Given the description of an element on the screen output the (x, y) to click on. 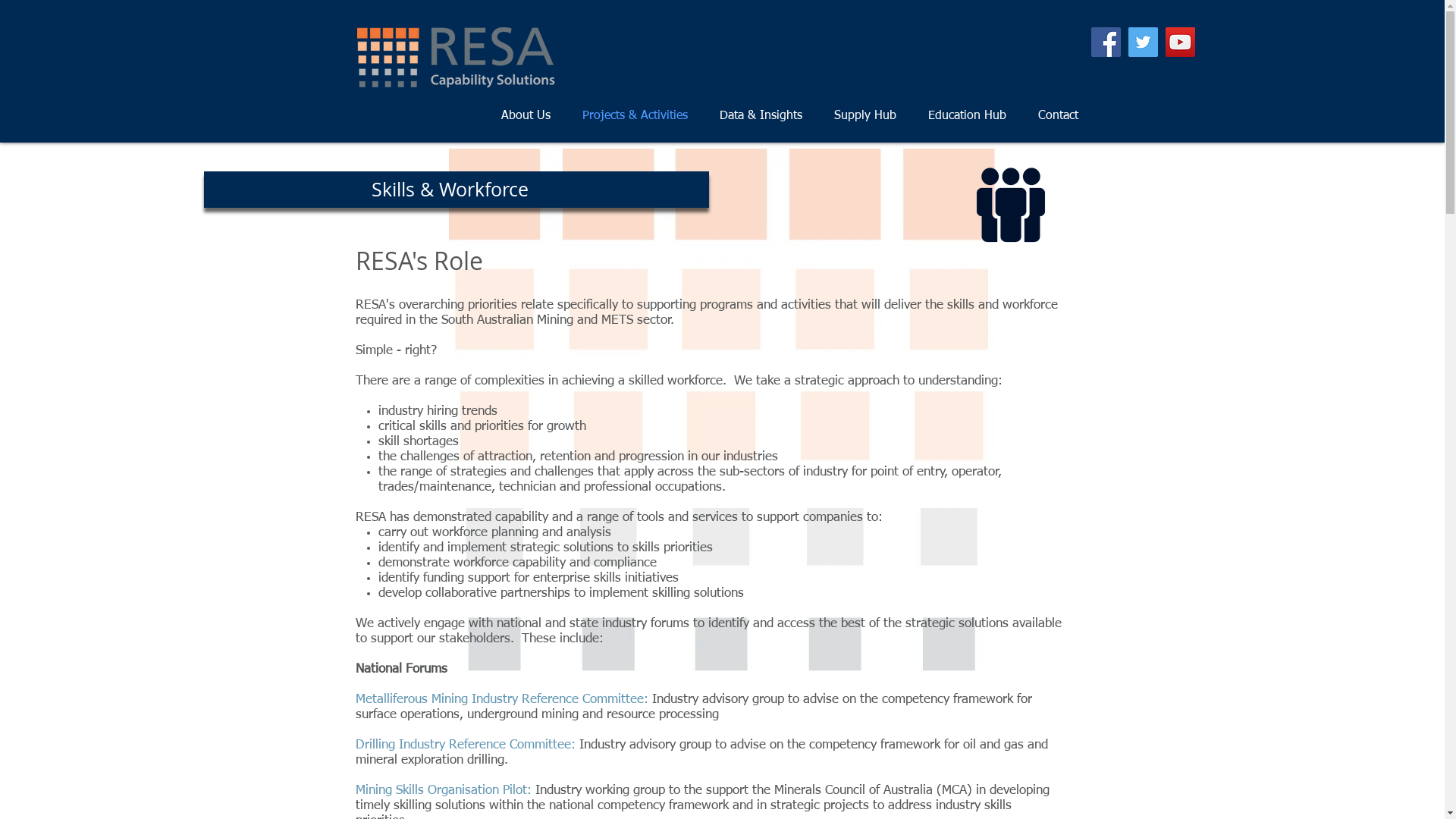
Data & Insights Element type: text (760, 116)
Supply Hub Element type: text (864, 116)
About Us Element type: text (525, 116)
Contact Element type: text (1058, 116)
Projects & Activities Element type: text (633, 116)
Education Hub Element type: text (966, 116)
